Given the description of an element on the screen output the (x, y) to click on. 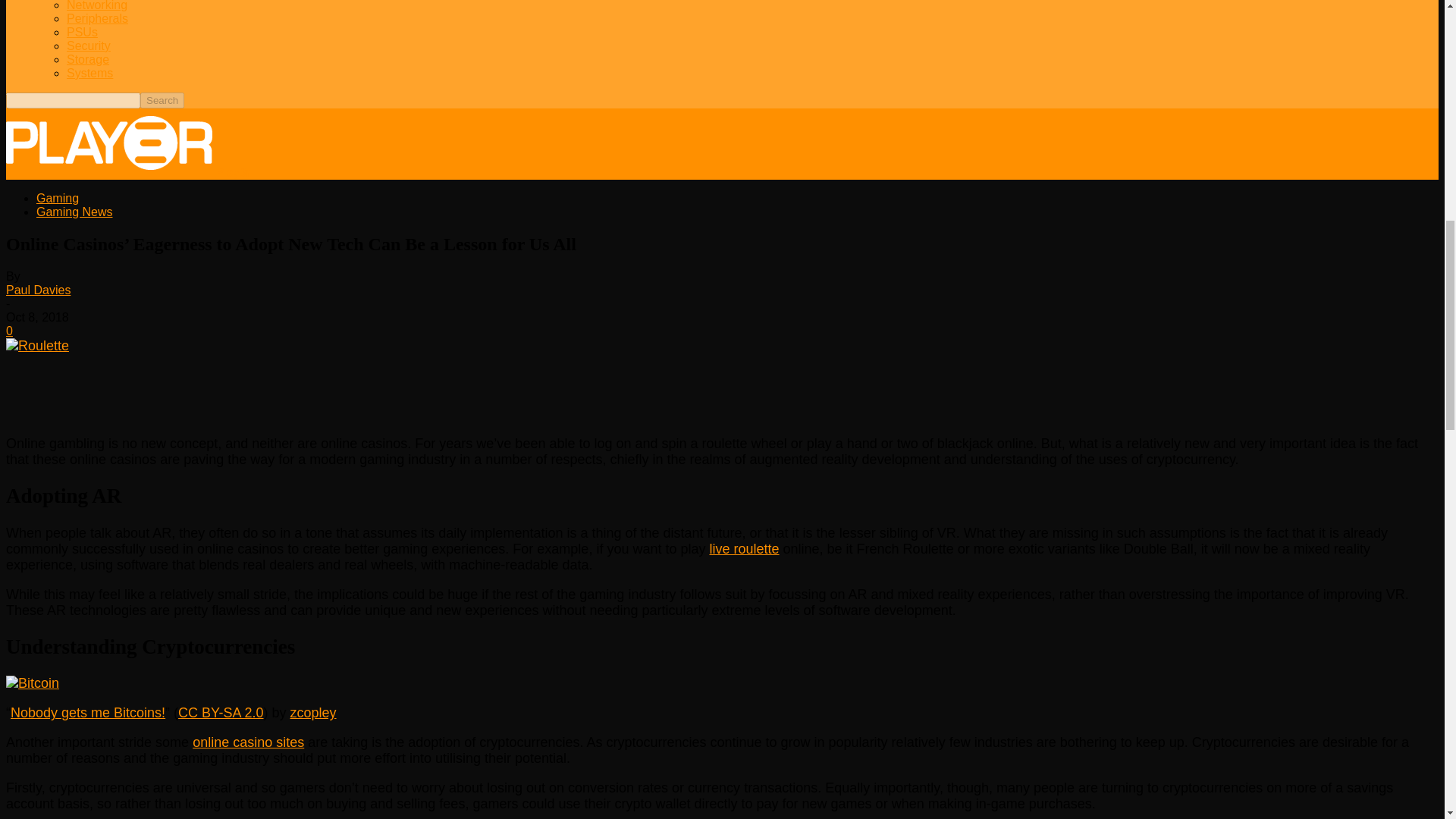
Roulette (36, 345)
Search (161, 100)
